Given the description of an element on the screen output the (x, y) to click on. 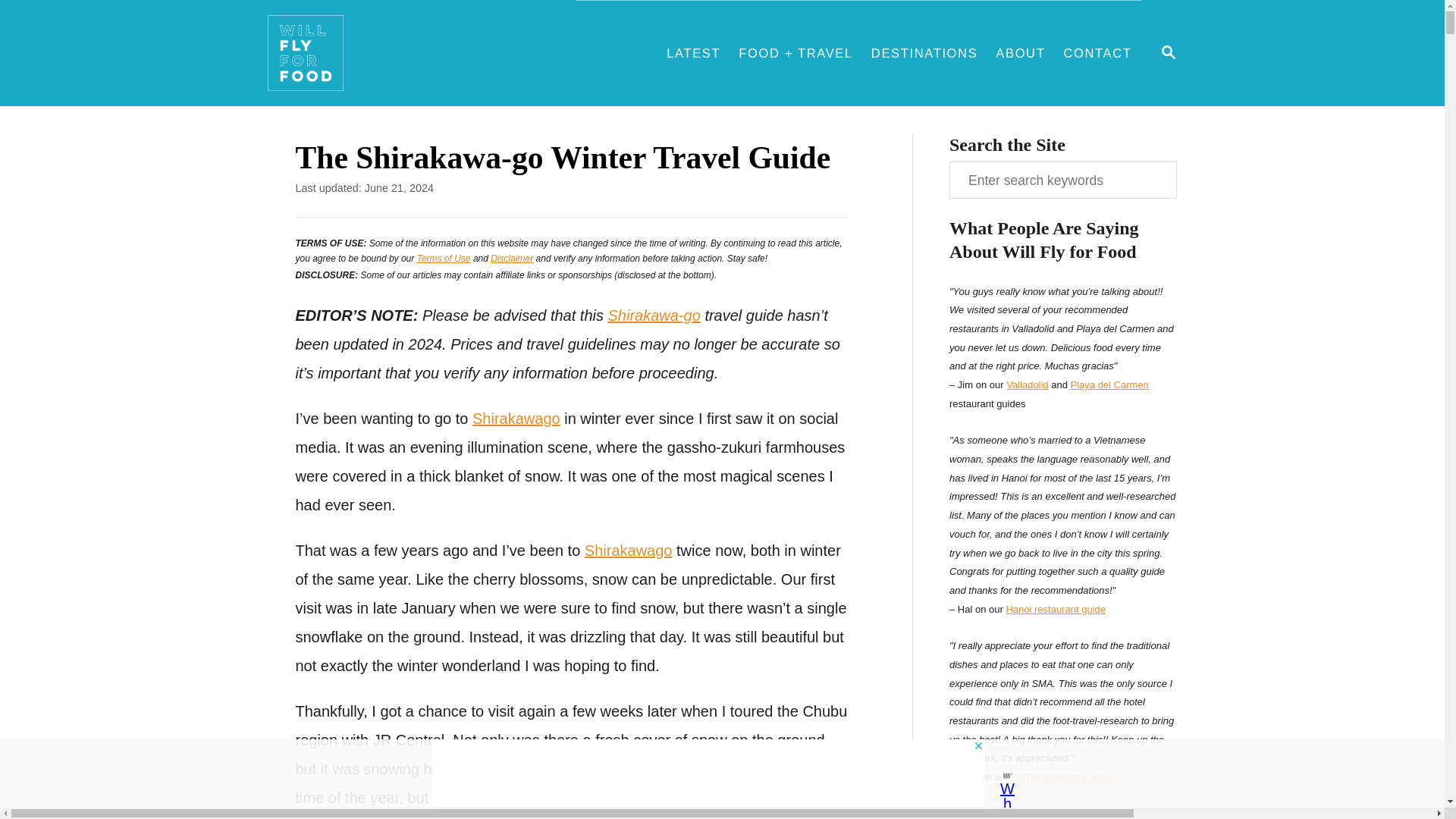
LATEST (693, 53)
ABOUT (1020, 53)
Will Fly for Food (420, 60)
DESTINATIONS (924, 53)
Shirakawago (515, 418)
Terms of Use (1167, 52)
Shirakawago (443, 258)
Shirakawa-go (628, 550)
Shirakawago (654, 315)
MAGNIFYING GLASS (660, 768)
CONTACT (1167, 51)
Disclaimer (1097, 53)
